Given the description of an element on the screen output the (x, y) to click on. 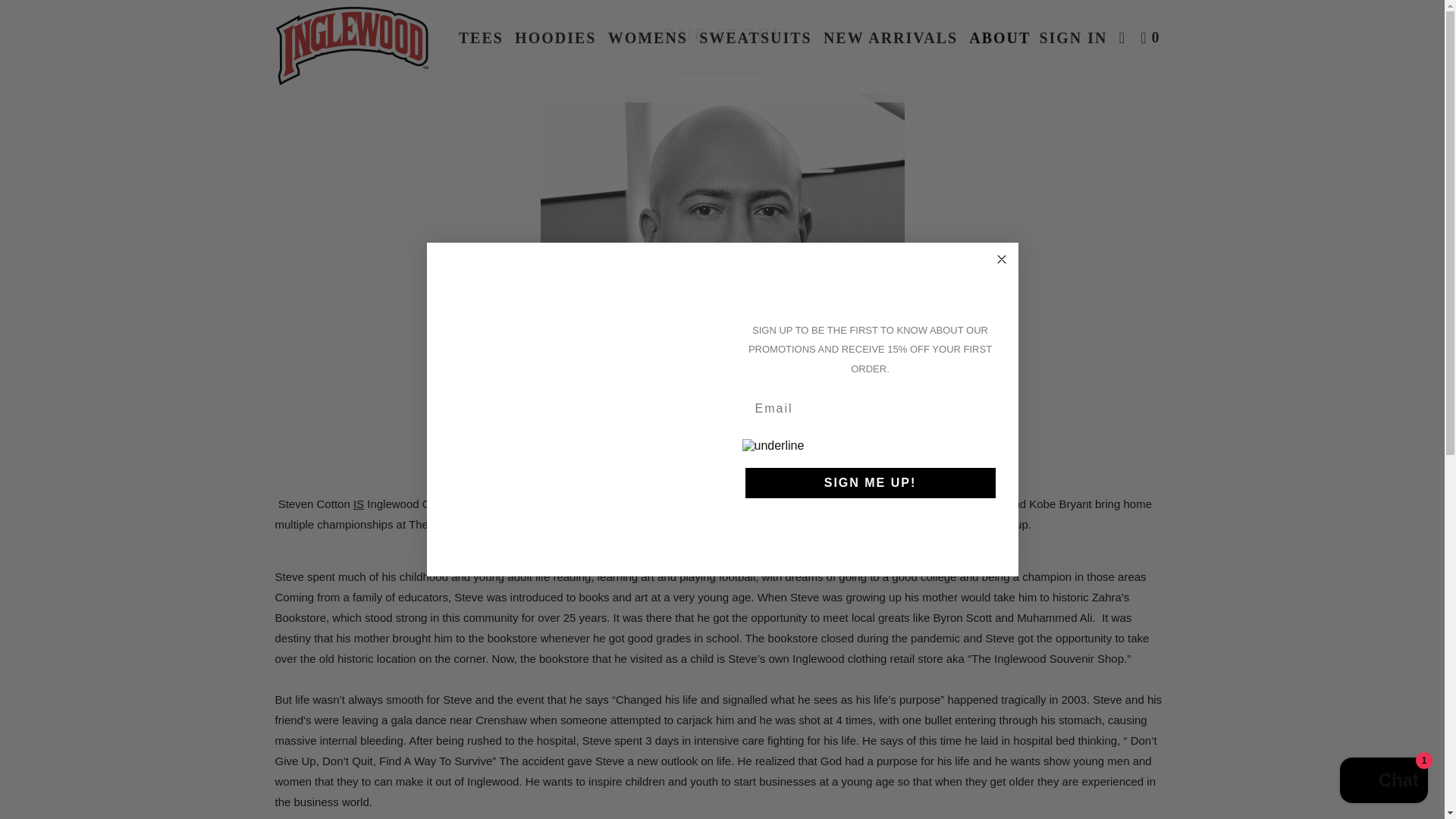
SIGN ME UP! (869, 482)
TEES (480, 37)
NEW ARRIVALS (890, 37)
Search (1124, 37)
ABOUT (999, 37)
INGLEWOOD CLOTHING LINE (352, 51)
SIGN IN (1072, 37)
0 (1151, 37)
Close dialog 1 (1000, 259)
Shopify online store chat (1383, 781)
Submit (39, 14)
My Account  (1072, 37)
SWEATSUITS (755, 37)
WOMENS (647, 37)
HOODIES (555, 37)
